Given the description of an element on the screen output the (x, y) to click on. 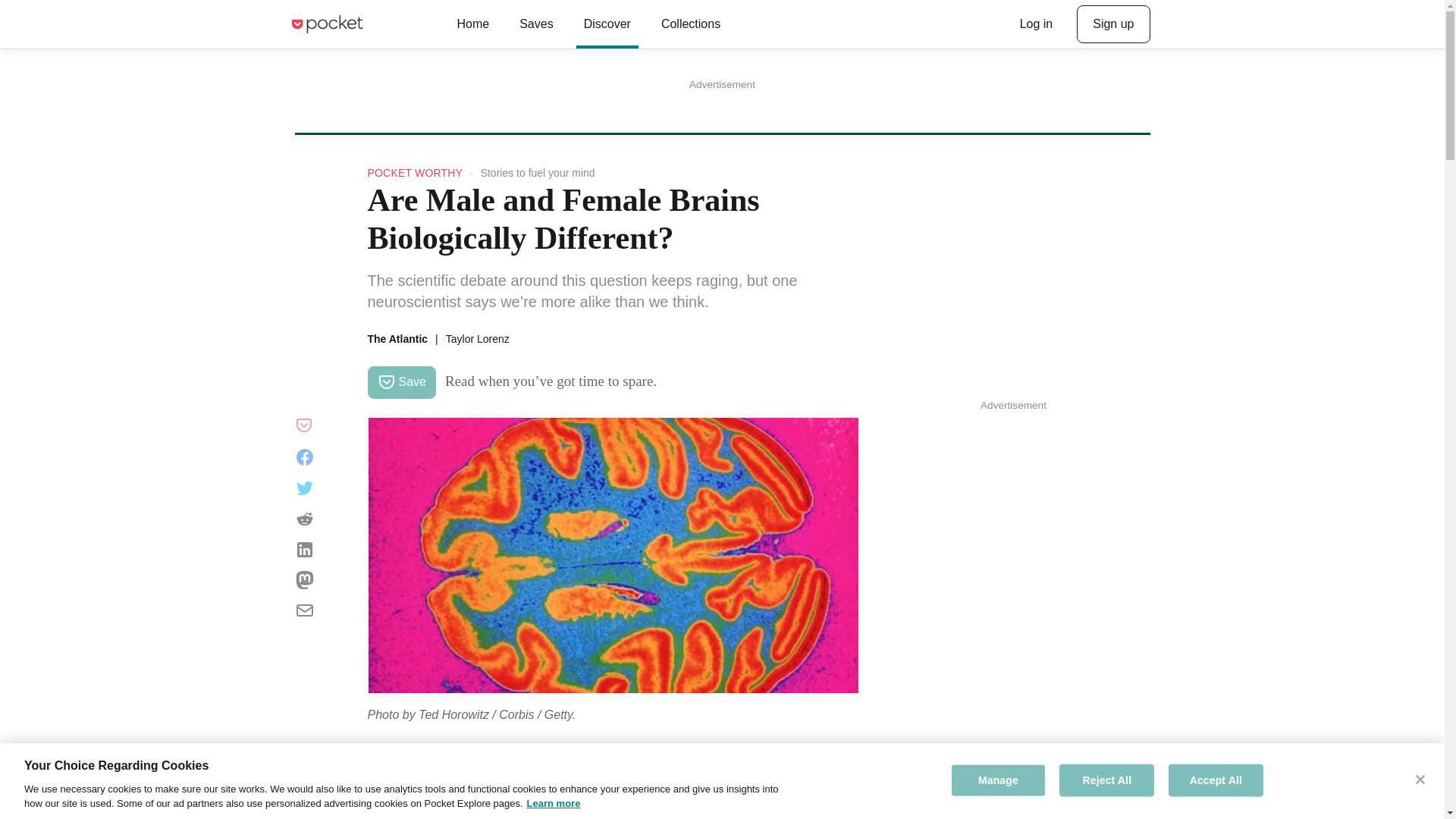
Discover (607, 24)
Collections (690, 24)
Pocket (326, 24)
Sign up (1113, 23)
Saves (535, 24)
Home (472, 24)
Save (400, 382)
The Atlantic (397, 338)
Log in (1036, 24)
